Given the description of an element on the screen output the (x, y) to click on. 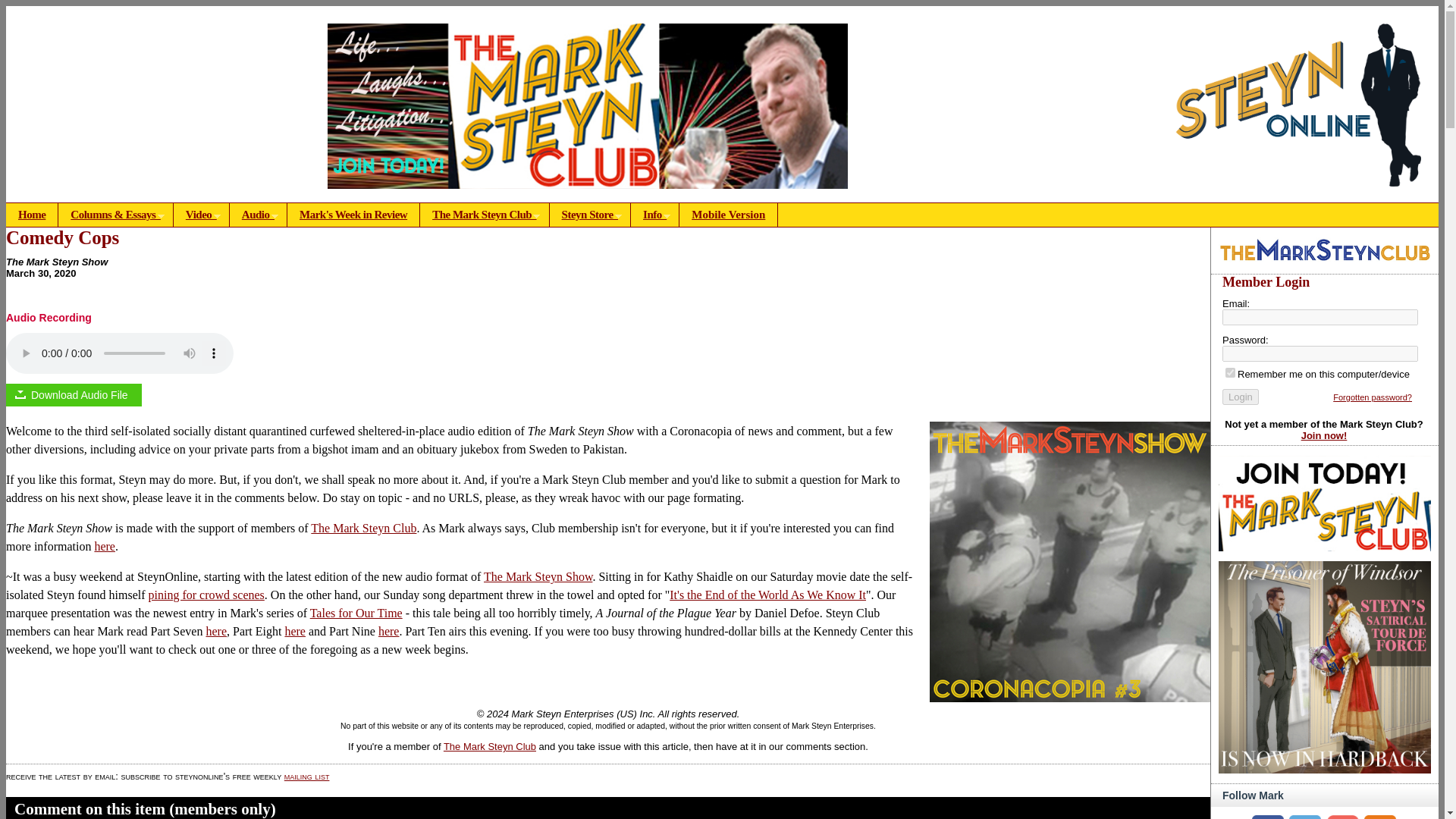
RSS Feed (1380, 816)
Join Mailing List (1342, 816)
Login (1241, 396)
persist (1229, 372)
Home (31, 214)
Mark's Week in Review (353, 214)
Facebook (1268, 816)
Twitter (1304, 816)
